Given the description of an element on the screen output the (x, y) to click on. 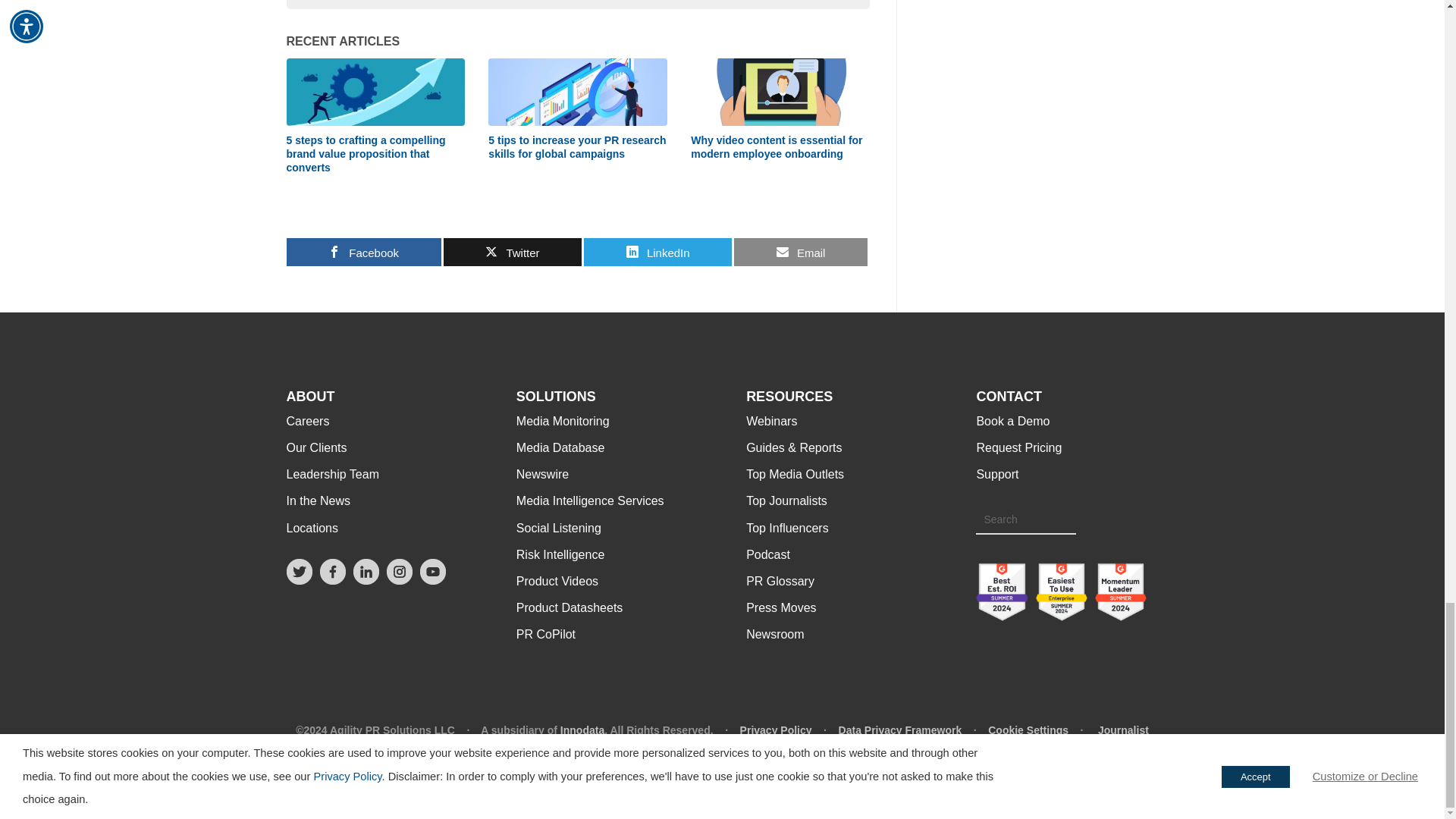
YouTube (432, 580)
LinkedIn (365, 580)
Product Videos (557, 581)
Facebook (333, 580)
Twitter (299, 580)
Instagram (399, 580)
